Given the description of an element on the screen output the (x, y) to click on. 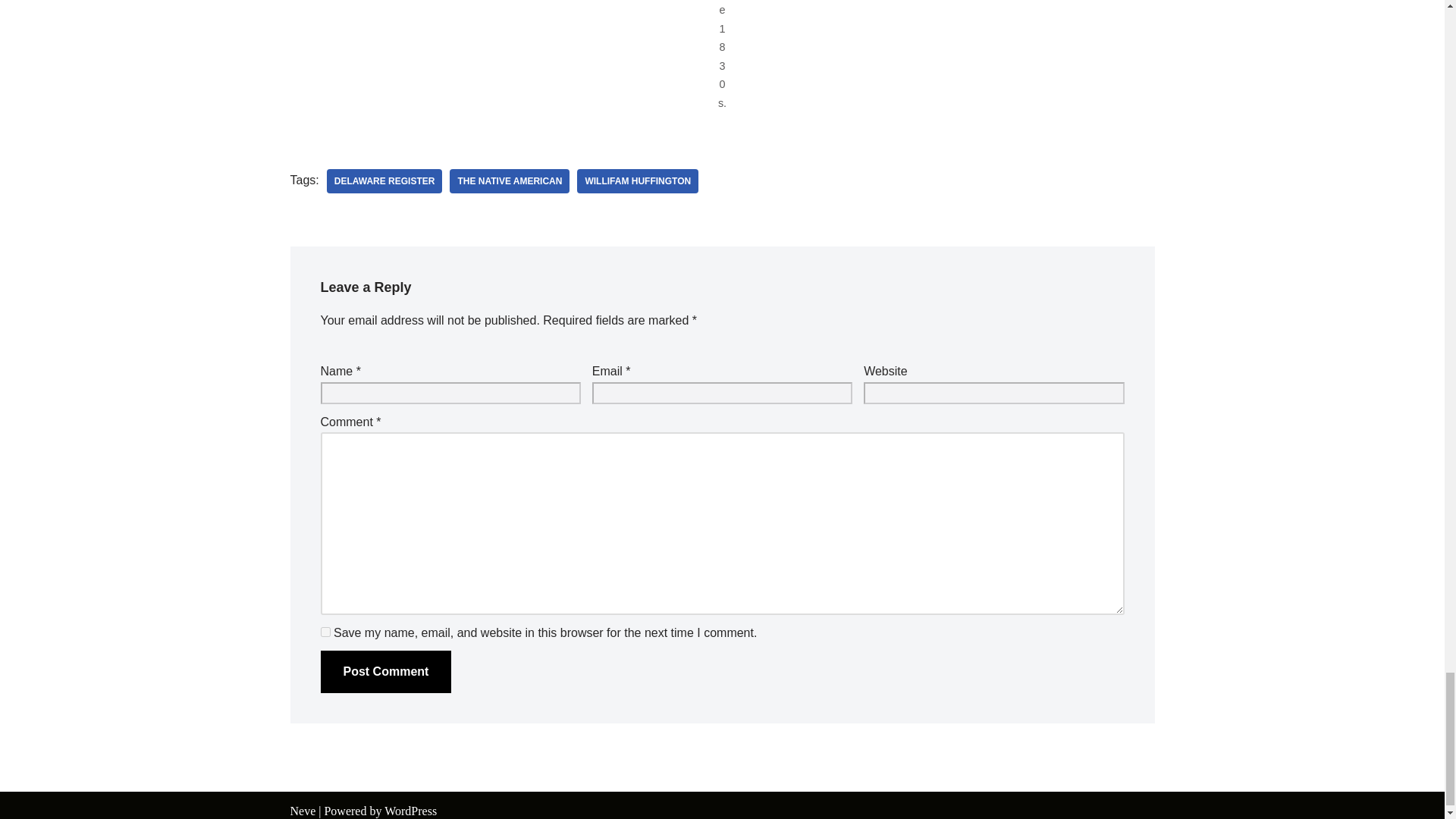
Post Comment (385, 671)
delaware register (384, 180)
Neve (302, 810)
willifam huffington (637, 180)
WILLIFAM HUFFINGTON (637, 180)
THE NATIVE AMERICAN (509, 180)
WordPress (410, 810)
the native american (509, 180)
yes (325, 632)
DELAWARE REGISTER (384, 180)
